Given the description of an element on the screen output the (x, y) to click on. 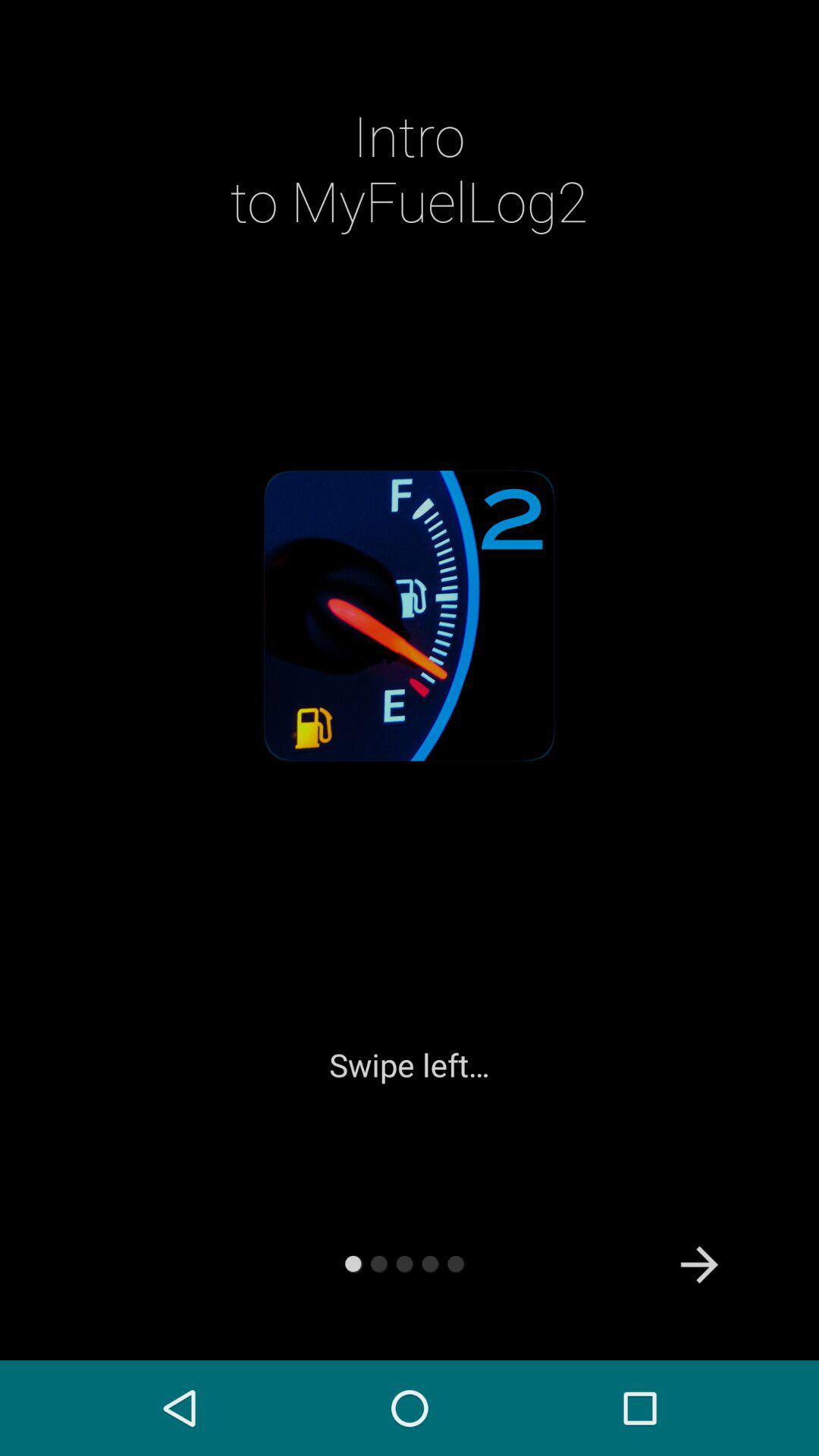
turn on item below the intro
to myfuellog2 item (699, 1264)
